Given the description of an element on the screen output the (x, y) to click on. 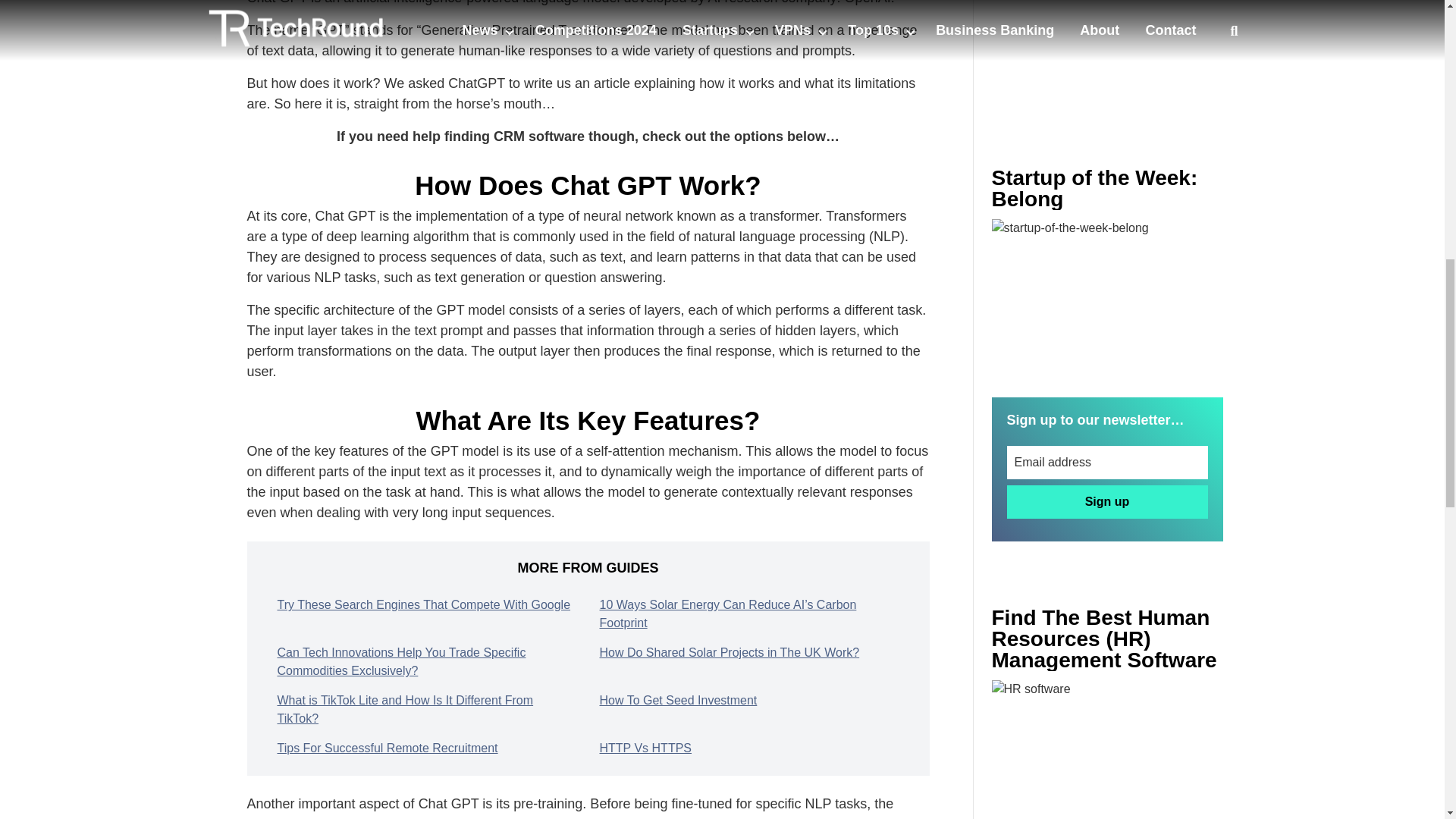
Save to Pinterest (506, 548)
Share on Facebook (275, 548)
Share on X (390, 548)
Share on LinkedIn (623, 548)
